Given the description of an element on the screen output the (x, y) to click on. 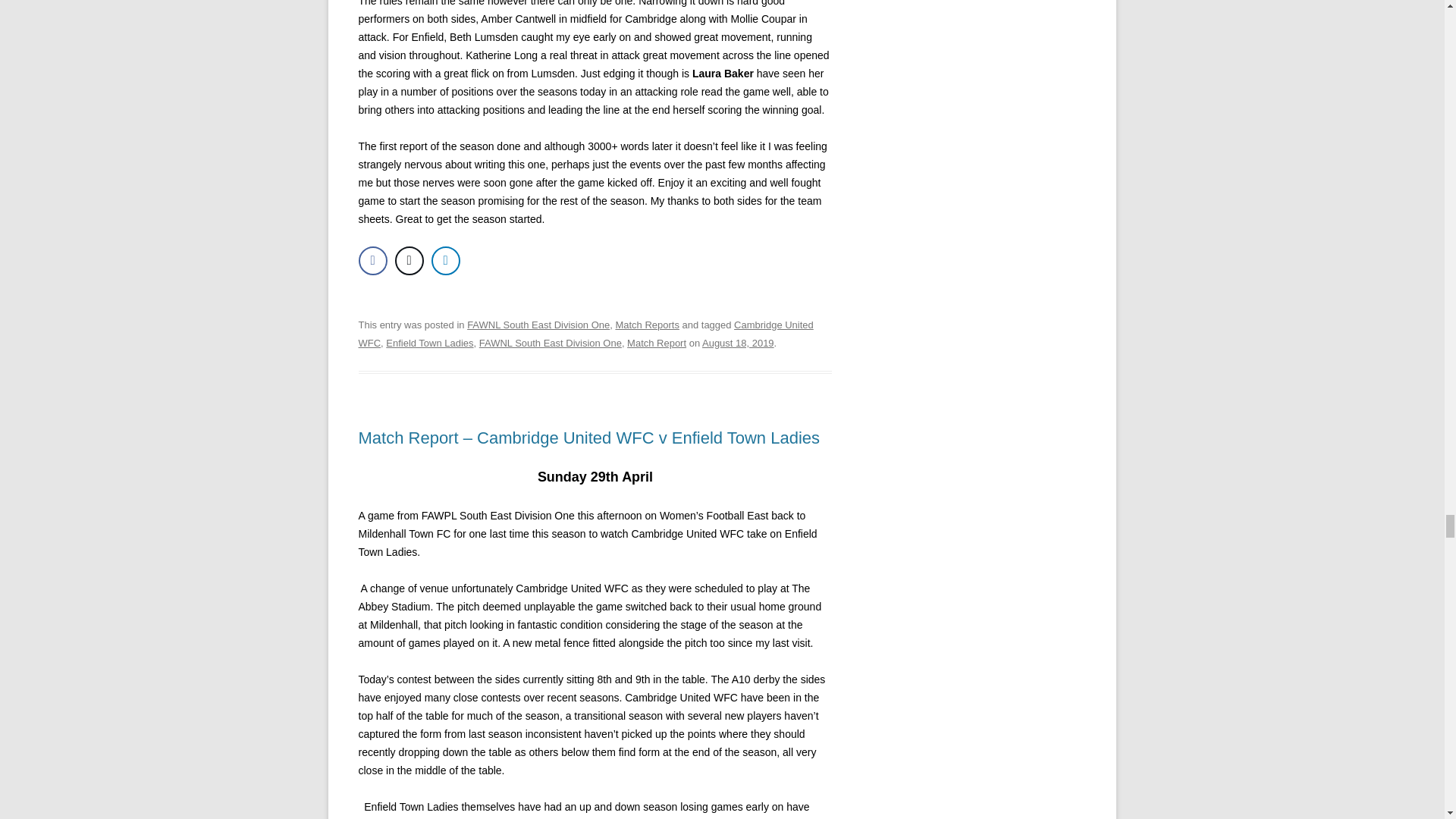
20:52 (737, 342)
